Given the description of an element on the screen output the (x, y) to click on. 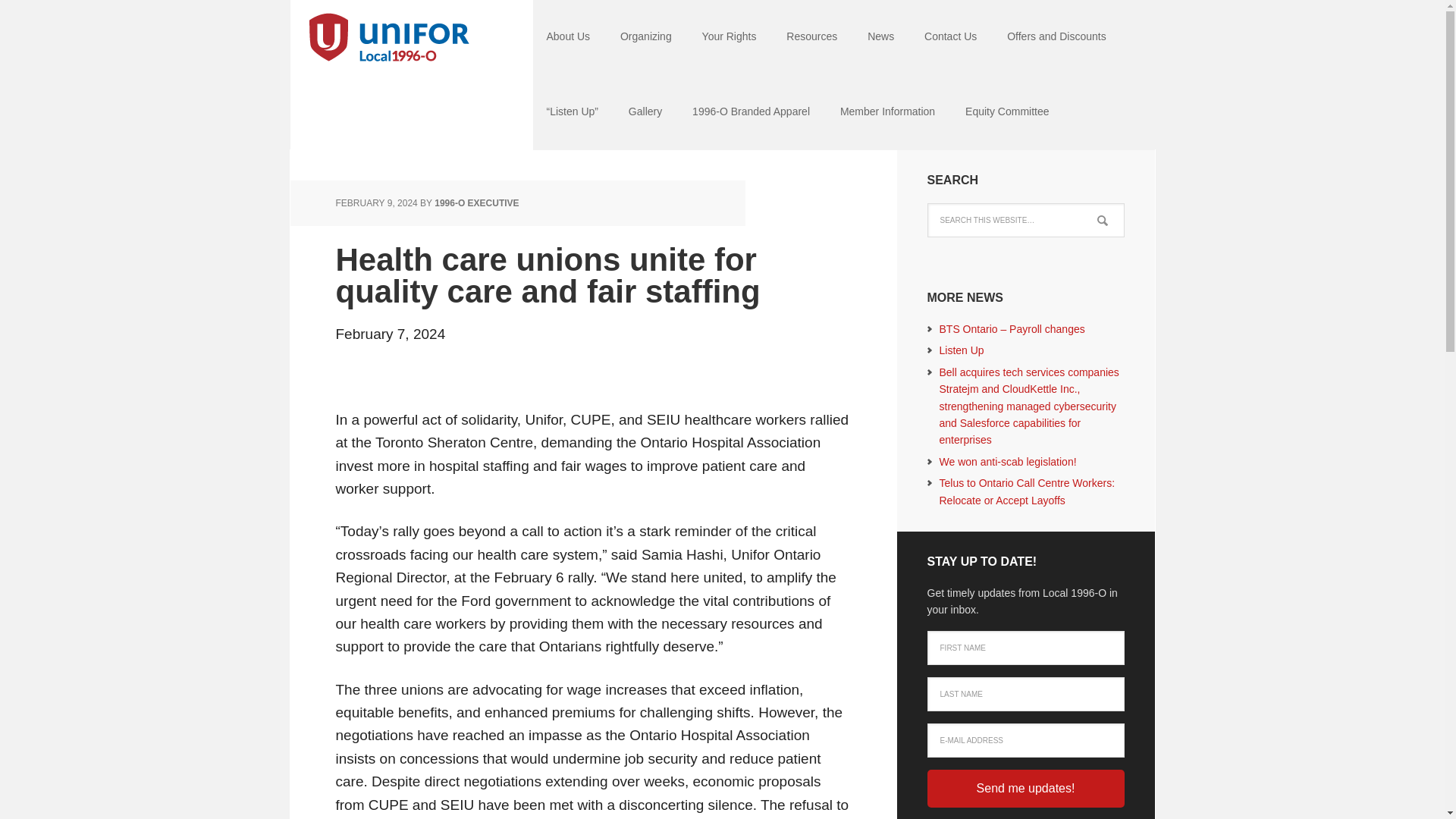
Send me updates! (1025, 788)
1996-O EXECUTIVE (475, 203)
Listen Up (961, 349)
Your Rights (729, 37)
Offers and Discounts (1055, 37)
We won anti-scab legislation! (1007, 461)
